Given the description of an element on the screen output the (x, y) to click on. 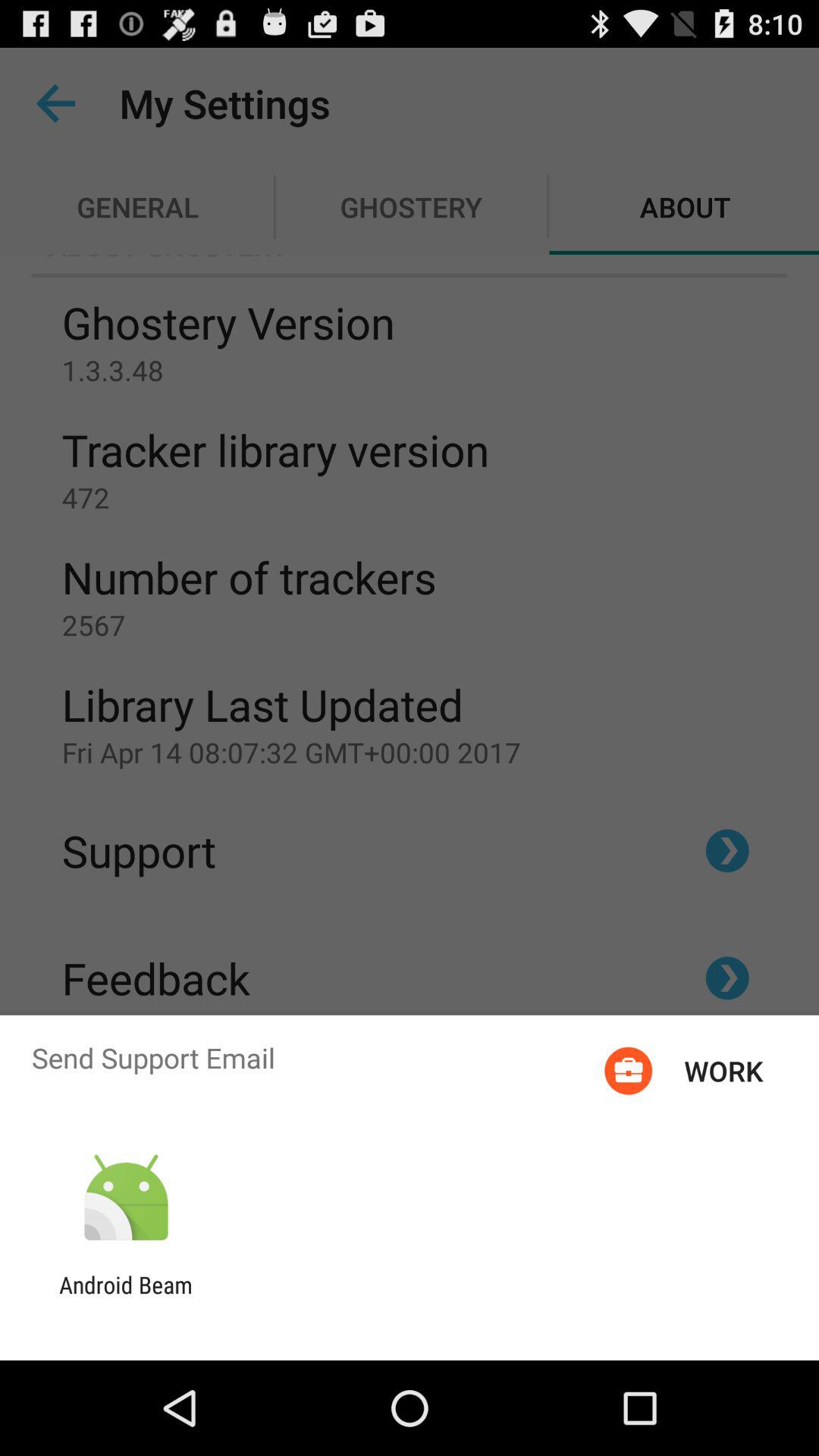
open the android beam item (125, 1298)
